Given the description of an element on the screen output the (x, y) to click on. 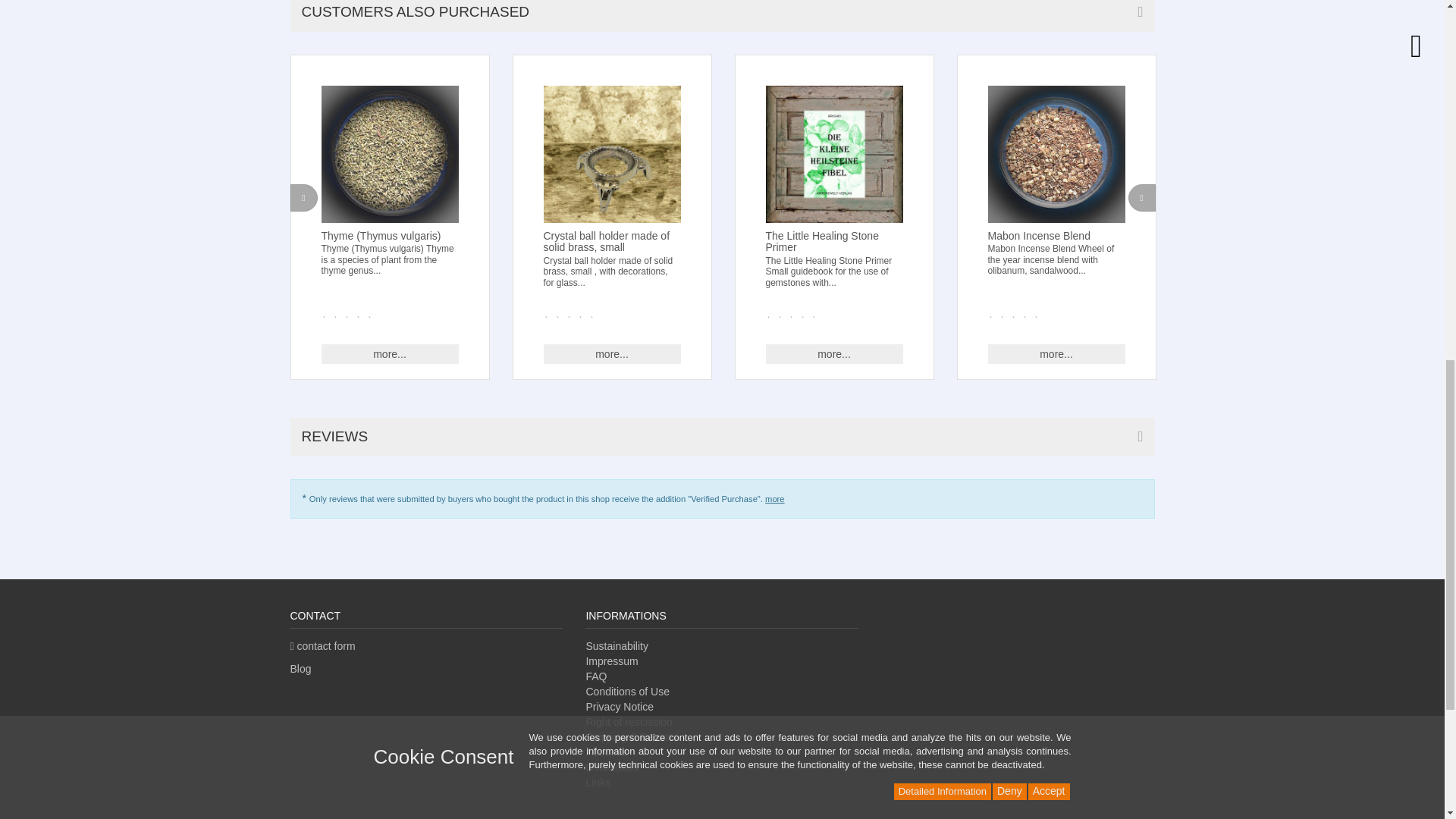
Crystal ball holder made of solid brass, small (611, 153)
Mabon Incense Blend (1055, 153)
The Little Healing Stone Primer (833, 153)
